Given the description of an element on the screen output the (x, y) to click on. 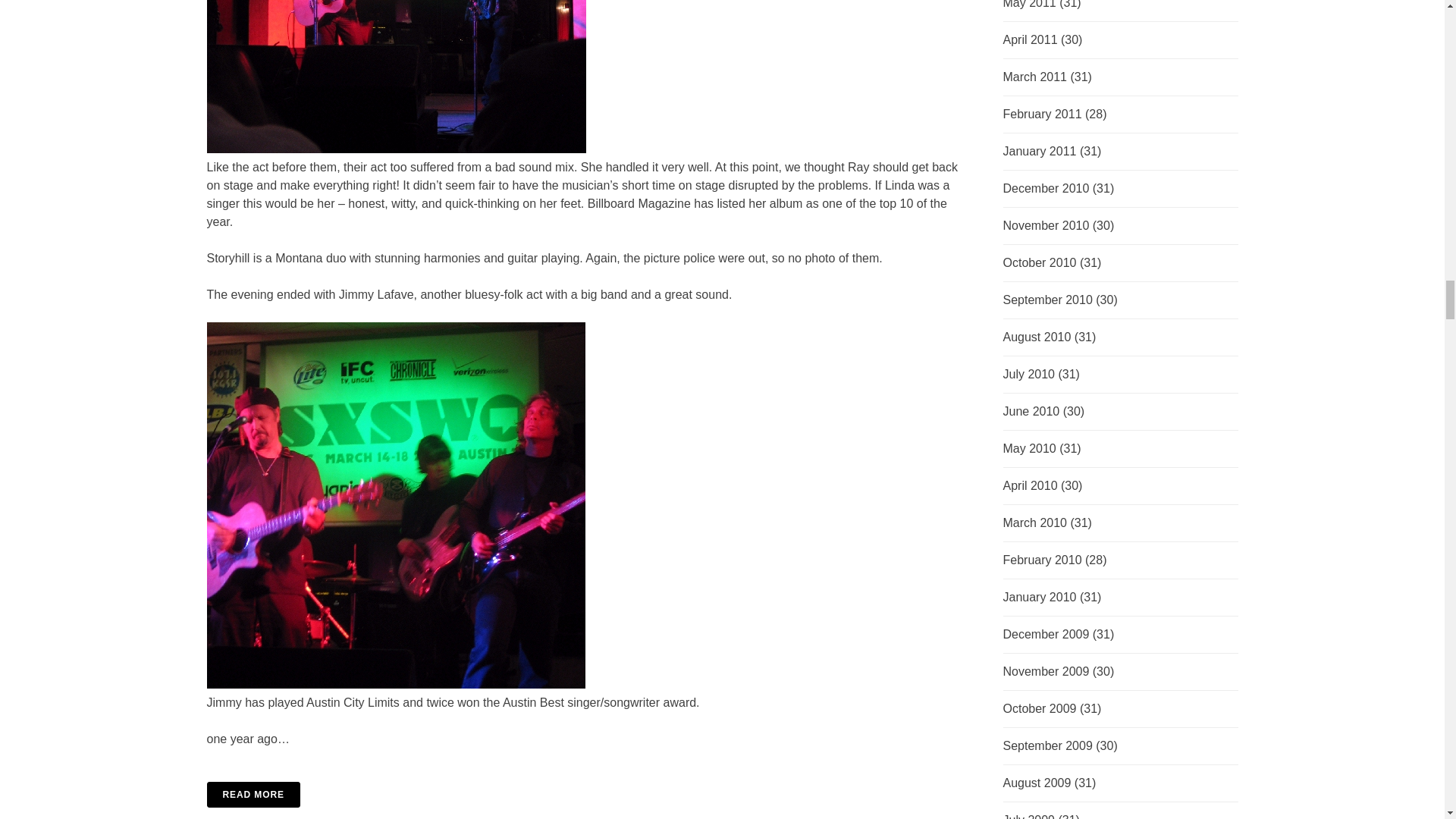
READ MORE (589, 793)
READ MORE (252, 793)
